Given the description of an element on the screen output the (x, y) to click on. 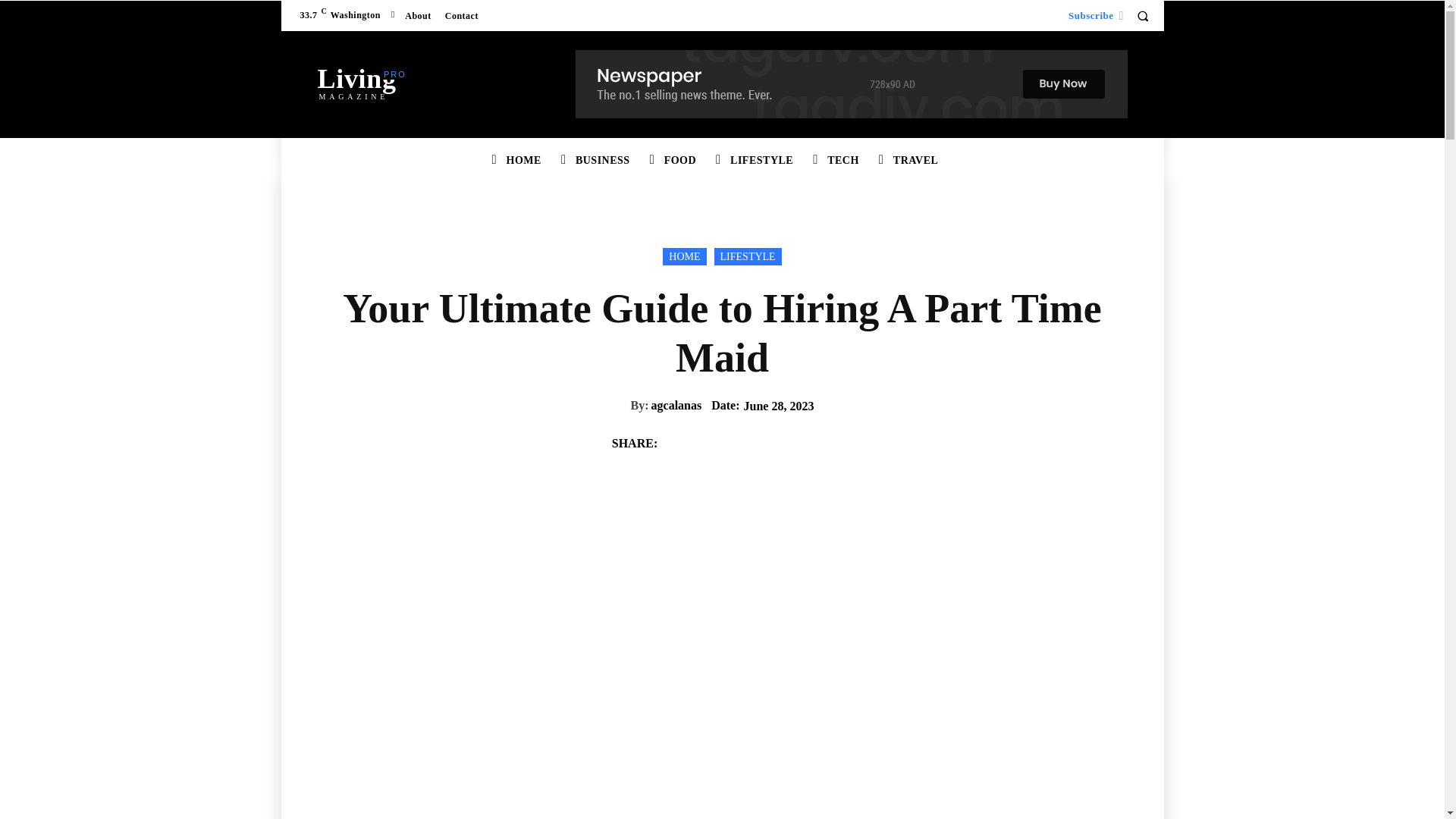
BUSINESS (603, 160)
Subscribe (1090, 15)
HOME (524, 160)
Contact (356, 81)
About (461, 15)
